Given the description of an element on the screen output the (x, y) to click on. 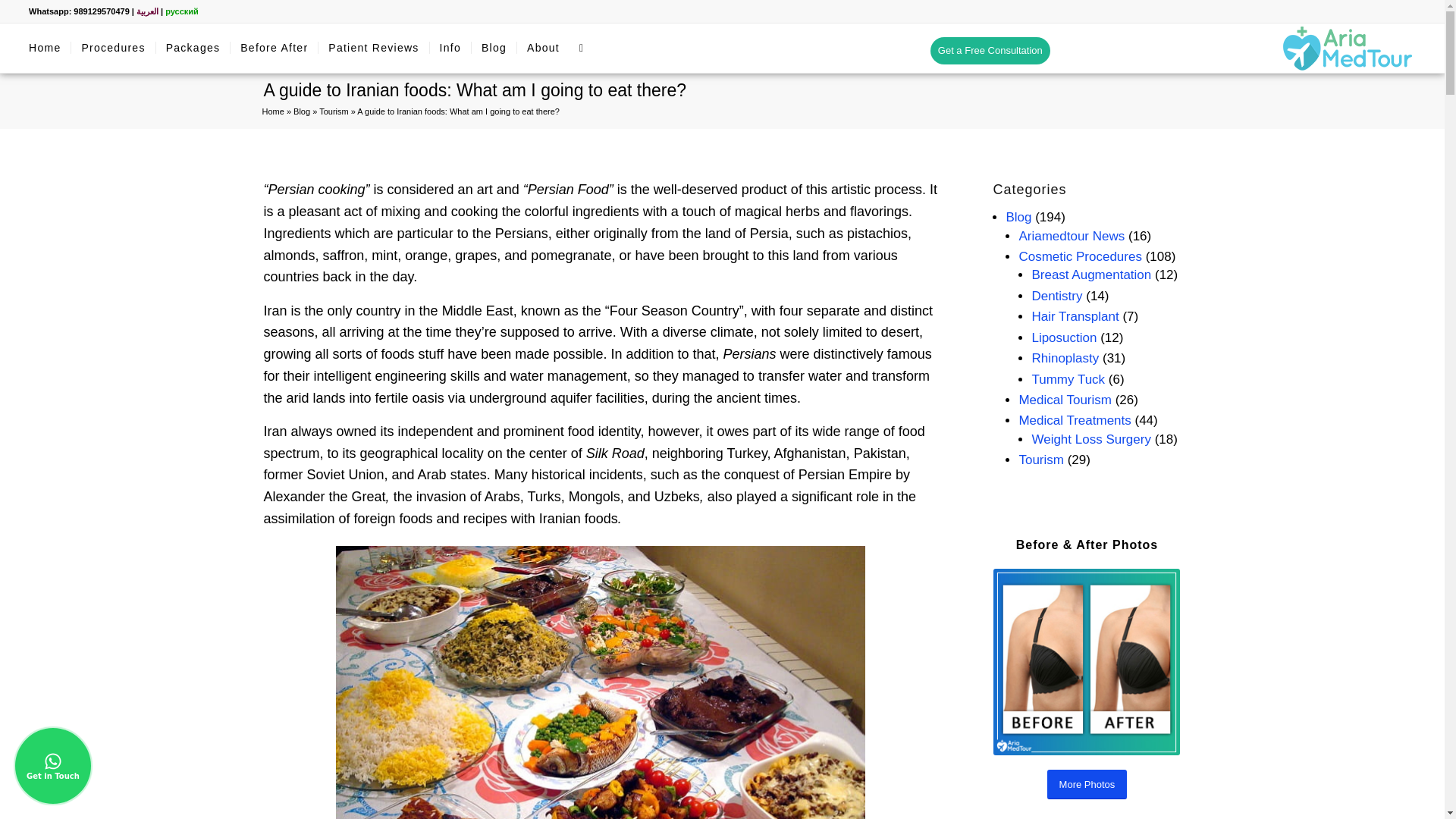
About (542, 47)
Patient Reviews (372, 47)
A guide to Iranian foods: What am I going to eat there? (474, 89)
Before After (273, 47)
Whatsapp: 989129570479 (79, 10)
Info (449, 47)
Get a Free Consultation (989, 50)
Procedures (111, 47)
Packages (192, 47)
Home (43, 47)
Blog (493, 47)
Home (272, 111)
